Given the description of an element on the screen output the (x, y) to click on. 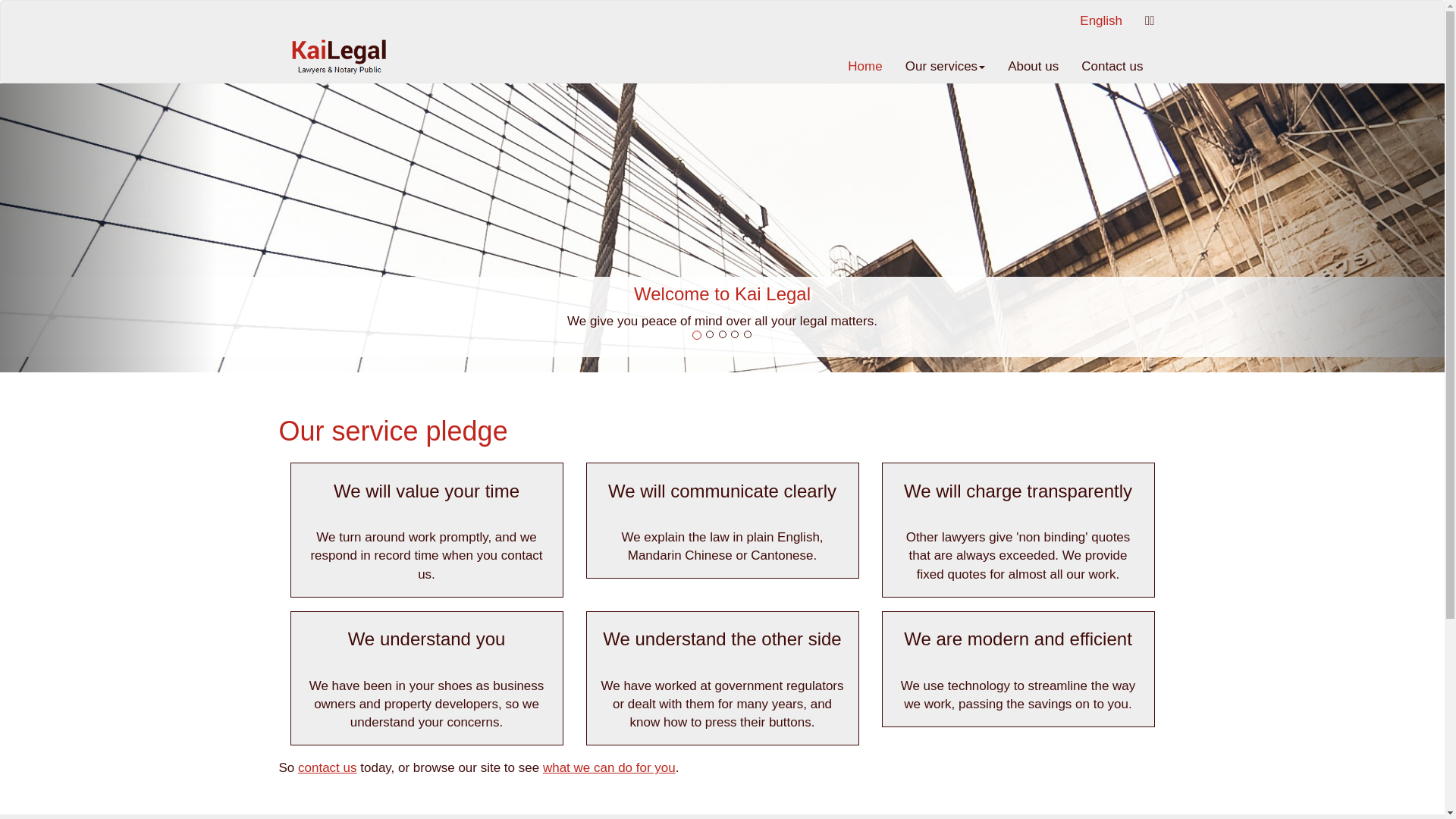
English Element type: text (1100, 20)
Previous Element type: text (108, 227)
Our services Element type: text (945, 66)
Next Element type: text (1335, 227)
Home Element type: text (864, 66)
contact us Element type: text (327, 767)
About us Element type: text (1033, 66)
Contact us Element type: text (1112, 66)
what we can do for you Element type: text (608, 767)
